Given the description of an element on the screen output the (x, y) to click on. 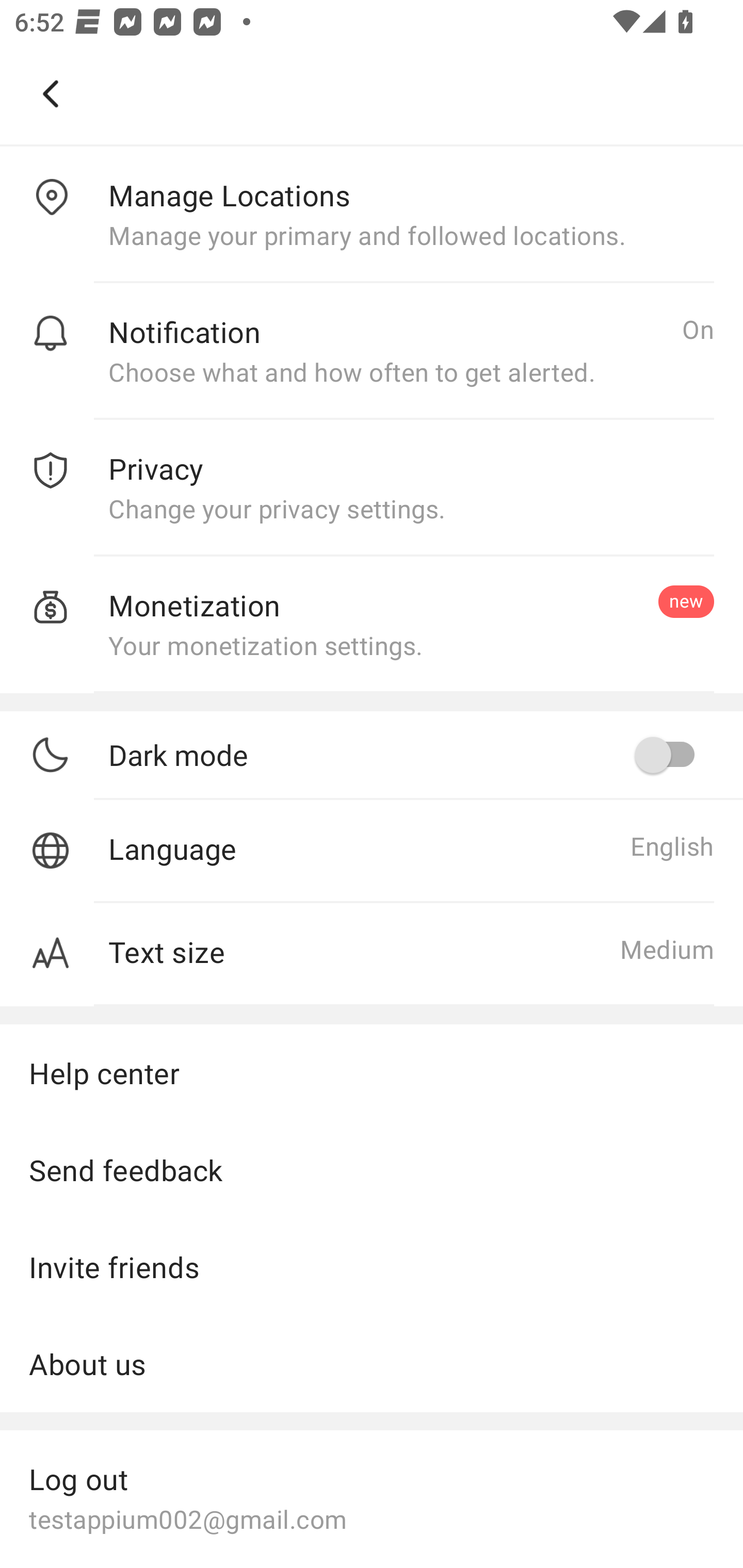
Navigate up (50, 93)
Privacy Change your privacy settings. (371, 488)
Monetization new Your monetization settings. (371, 624)
new (686, 600)
Dark mode (411, 754)
Language English (371, 851)
Text size Medium (371, 954)
Help center (371, 1072)
Send feedback (371, 1169)
Invite friends (371, 1266)
About us (371, 1363)
Log out testappium002@gmail.com (371, 1497)
